Given the description of an element on the screen output the (x, y) to click on. 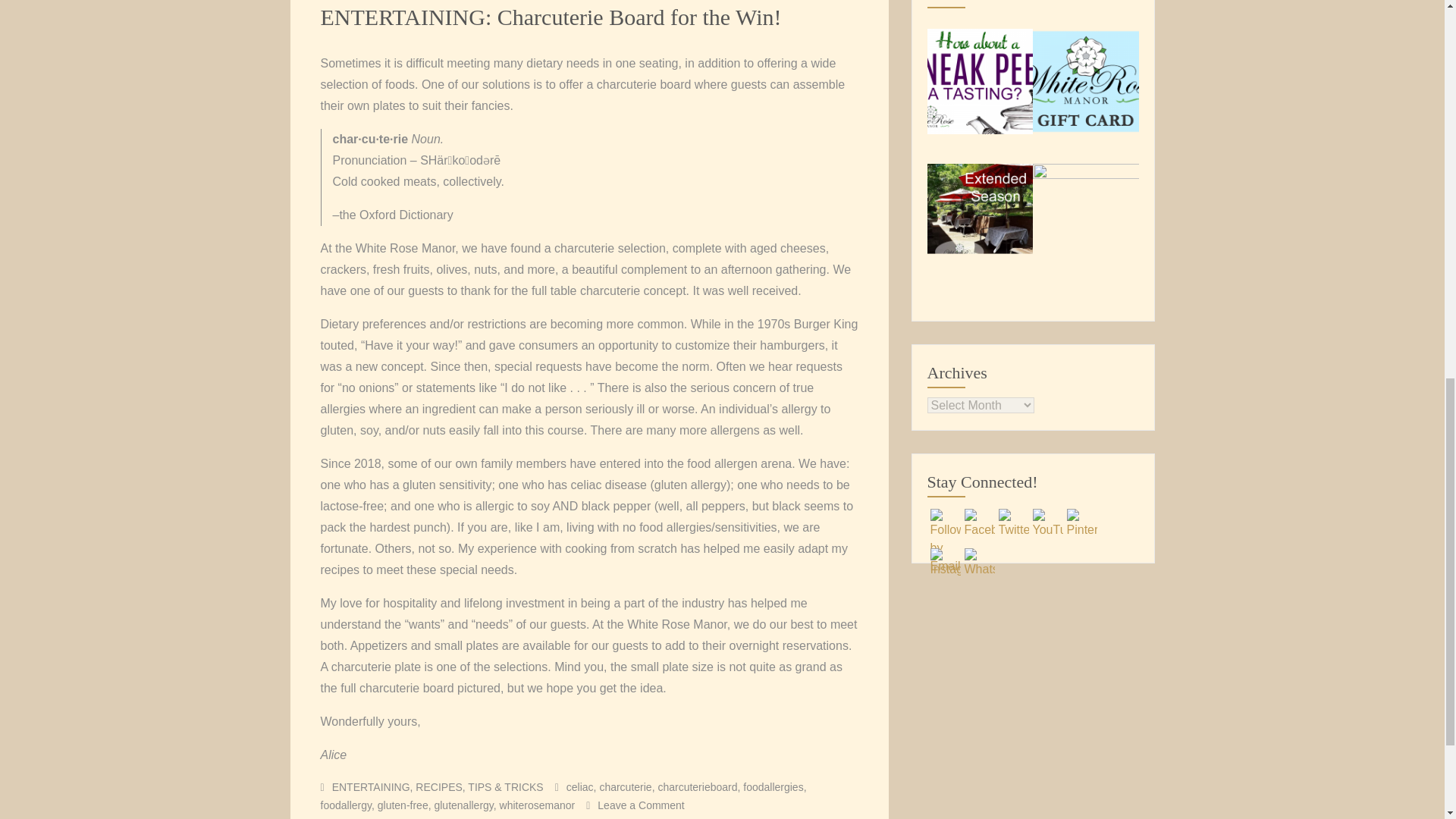
YouTube (1047, 523)
Instagram (944, 562)
RECIPES (437, 787)
Twitter (1012, 523)
ENTERTAINING (370, 787)
Pinterest (1080, 523)
Facebook (978, 523)
